Given the description of an element on the screen output the (x, y) to click on. 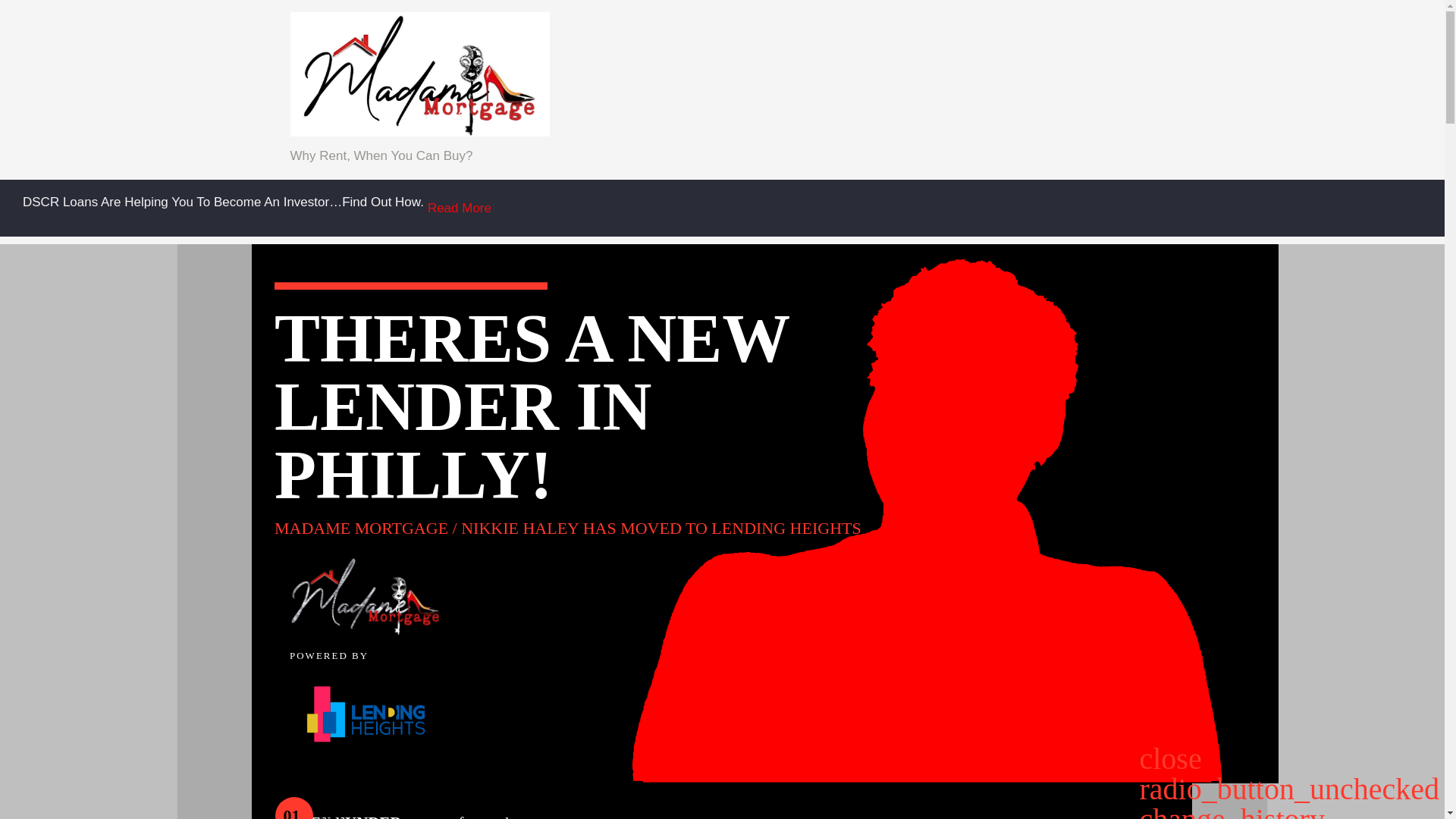
Read More (460, 207)
